Given the description of an element on the screen output the (x, y) to click on. 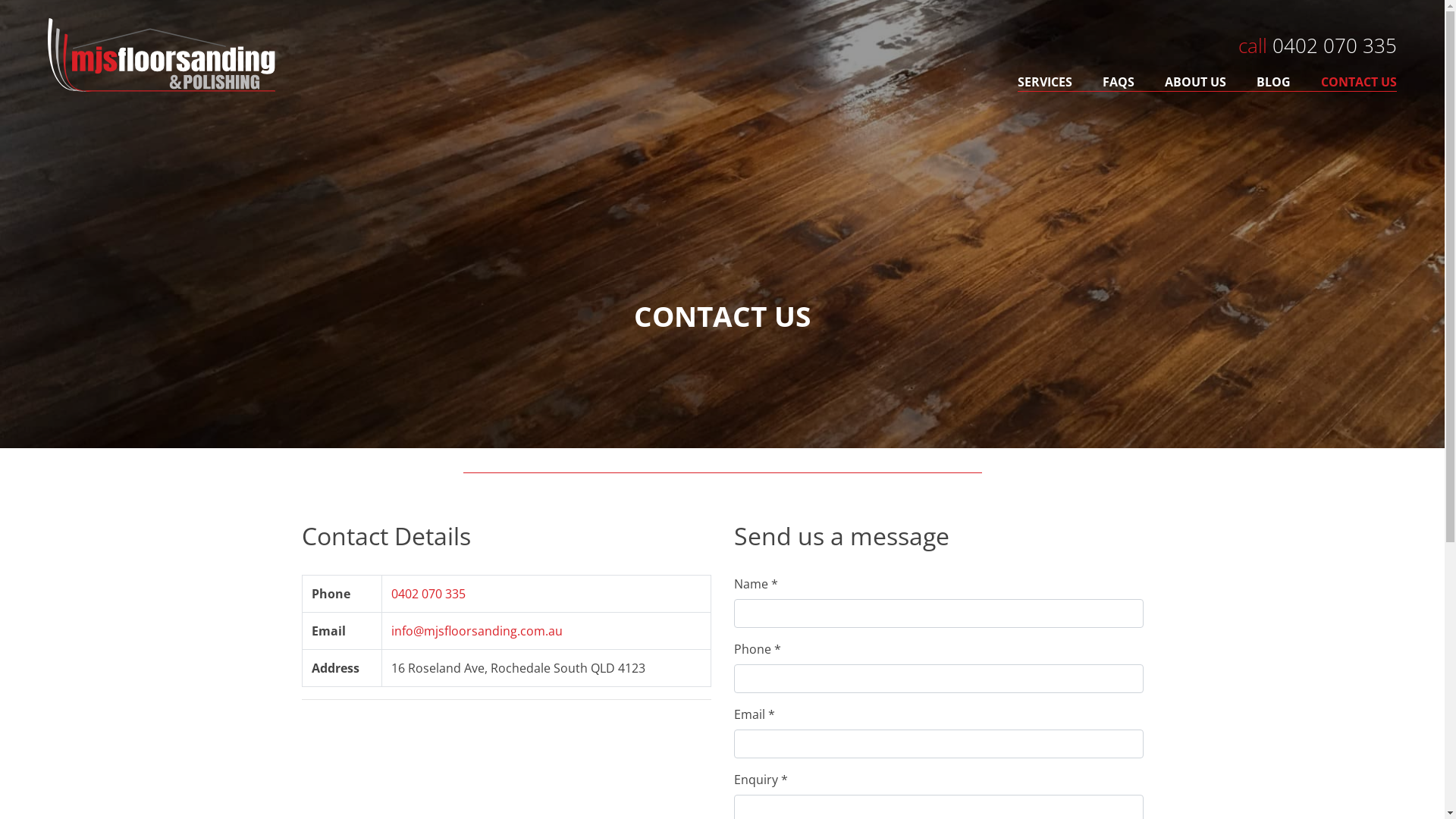
0402 070 335 Element type: text (1334, 45)
BLOG Element type: text (1273, 81)
SERVICES Element type: text (1052, 81)
CONTACT US Element type: text (1350, 81)
ABOUT US Element type: text (1195, 81)
info@mjsfloorsanding.com.au Element type: text (476, 630)
0402 070 335 Element type: text (428, 593)
FAQS Element type: text (1118, 81)
